Given the description of an element on the screen output the (x, y) to click on. 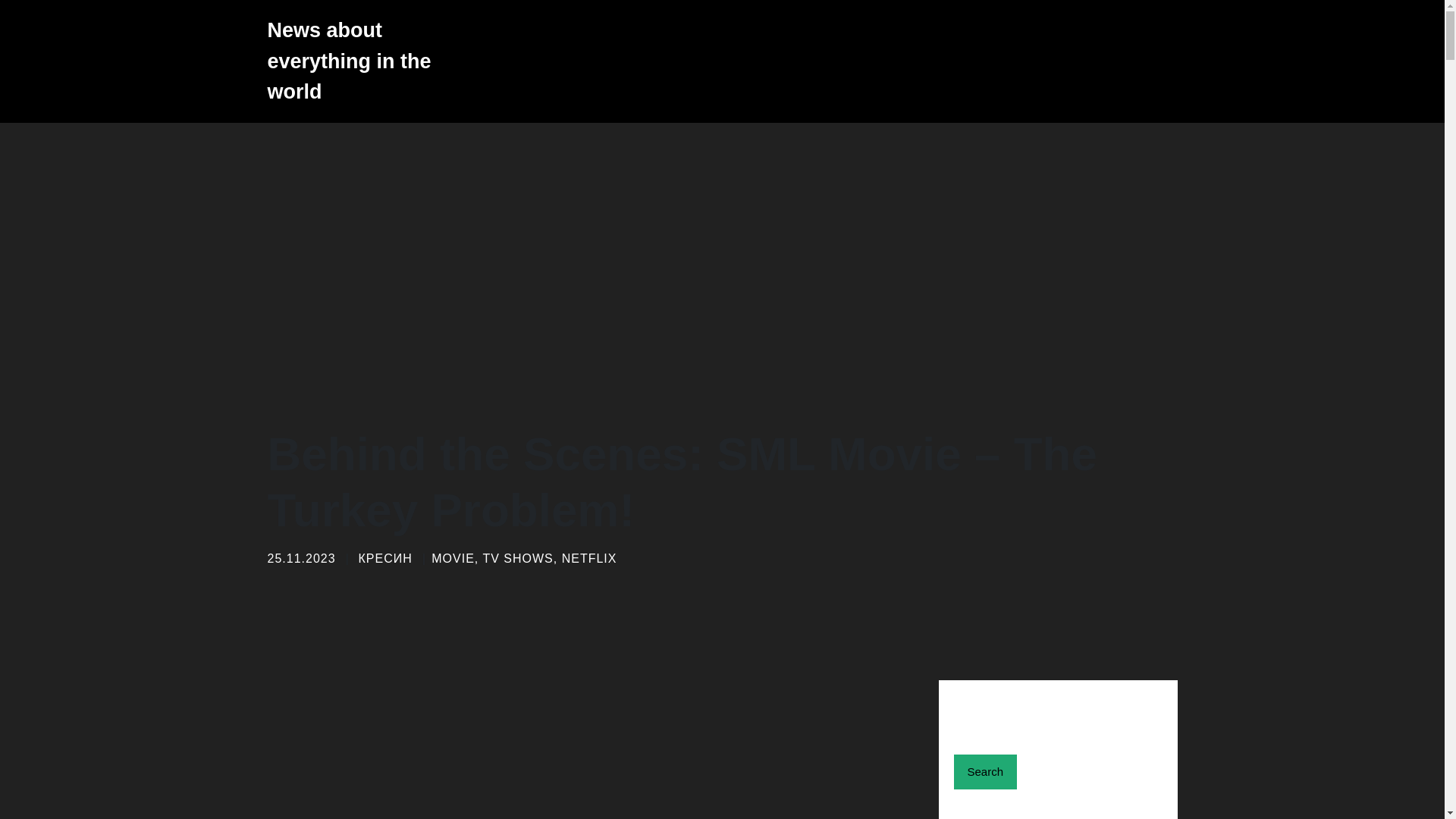
25.11.2023 (300, 558)
News about everything in the world (357, 61)
News about everything in the world (357, 61)
MOVIE, TV SHOWS, NETFLIX (522, 558)
